Given the description of an element on the screen output the (x, y) to click on. 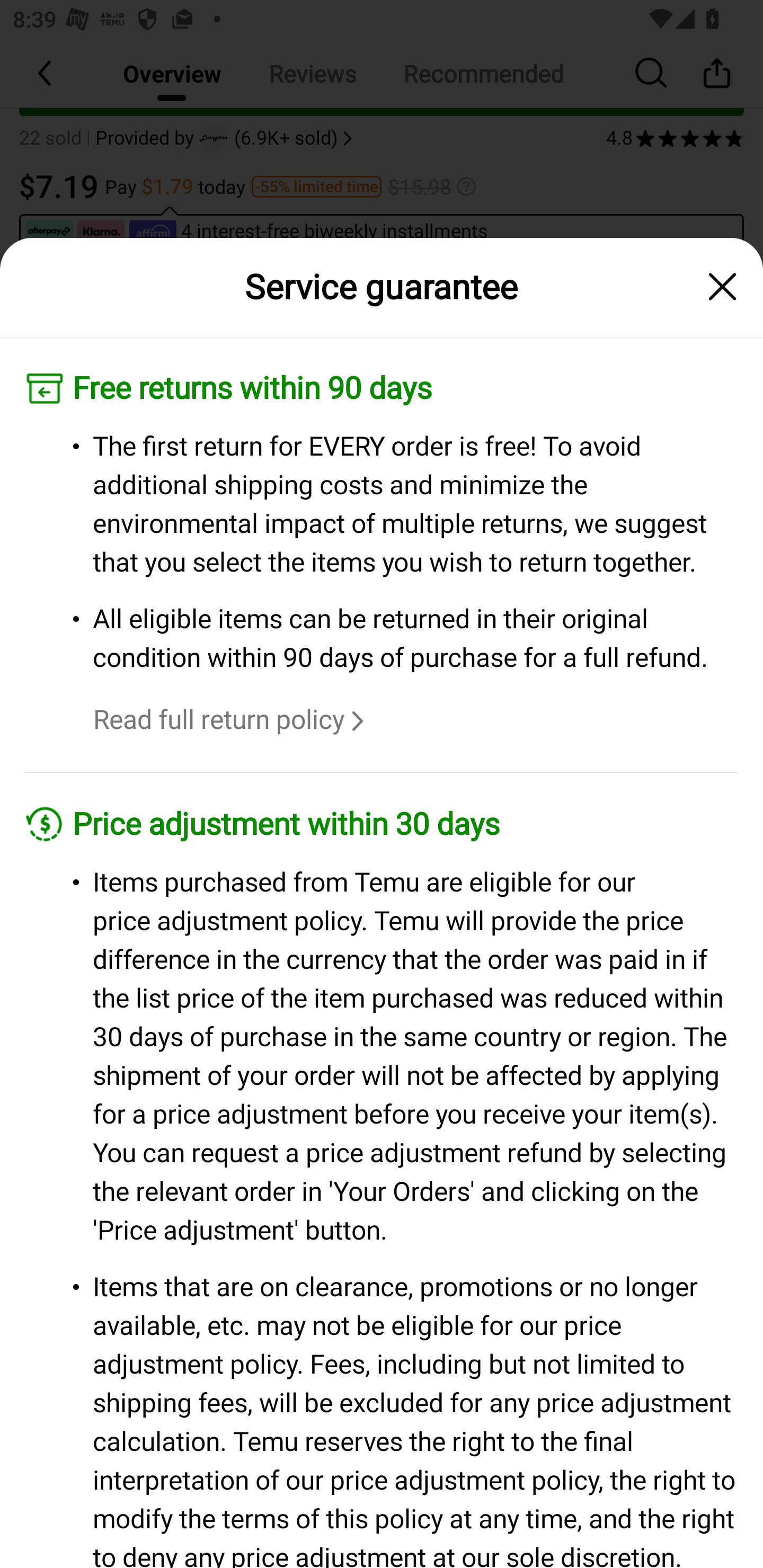
 (722, 286)
Read full return policy  (231, 720)
